Given the description of an element on the screen output the (x, y) to click on. 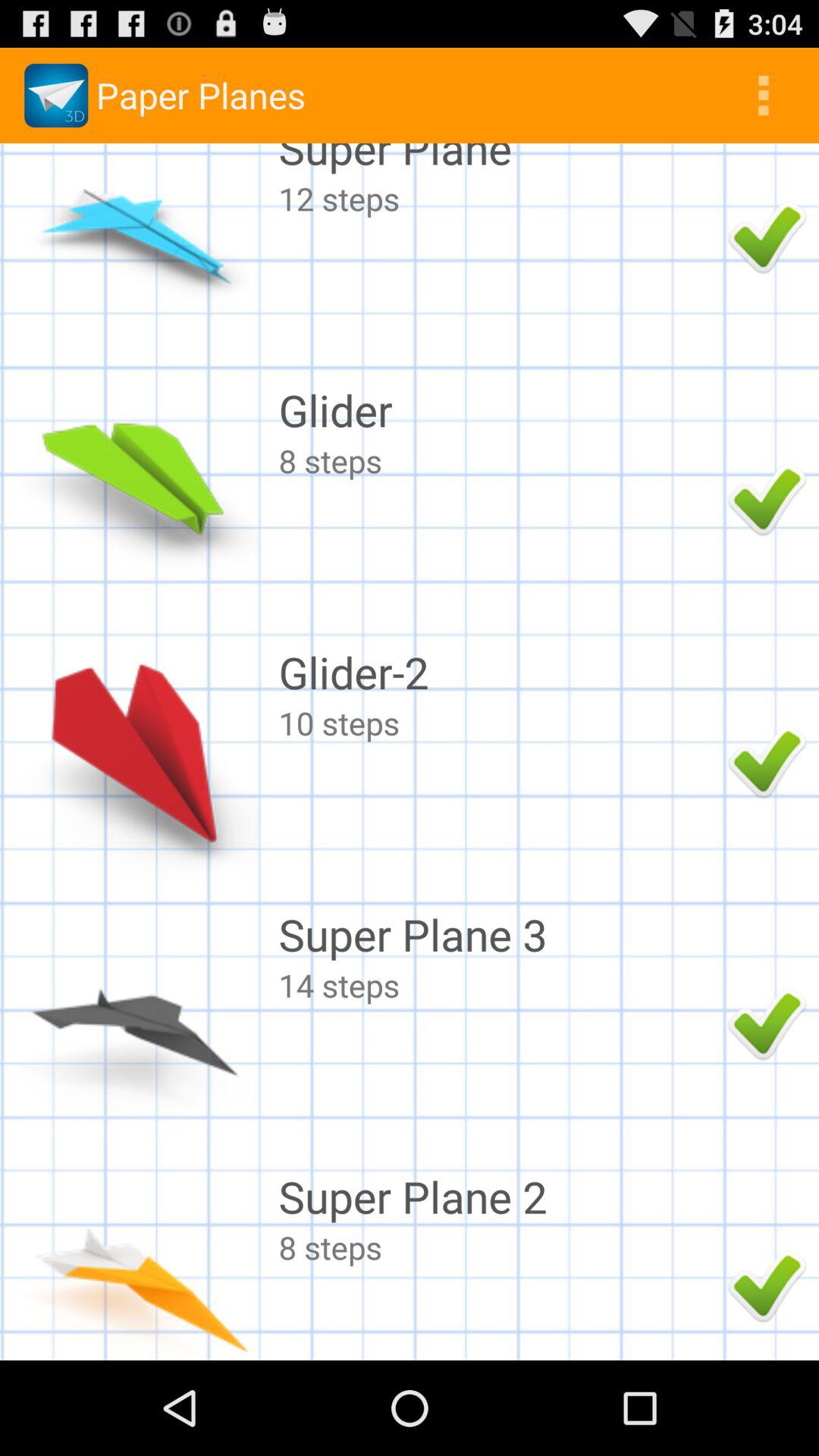
tap item below super plane 3 app (498, 984)
